Given the description of an element on the screen output the (x, y) to click on. 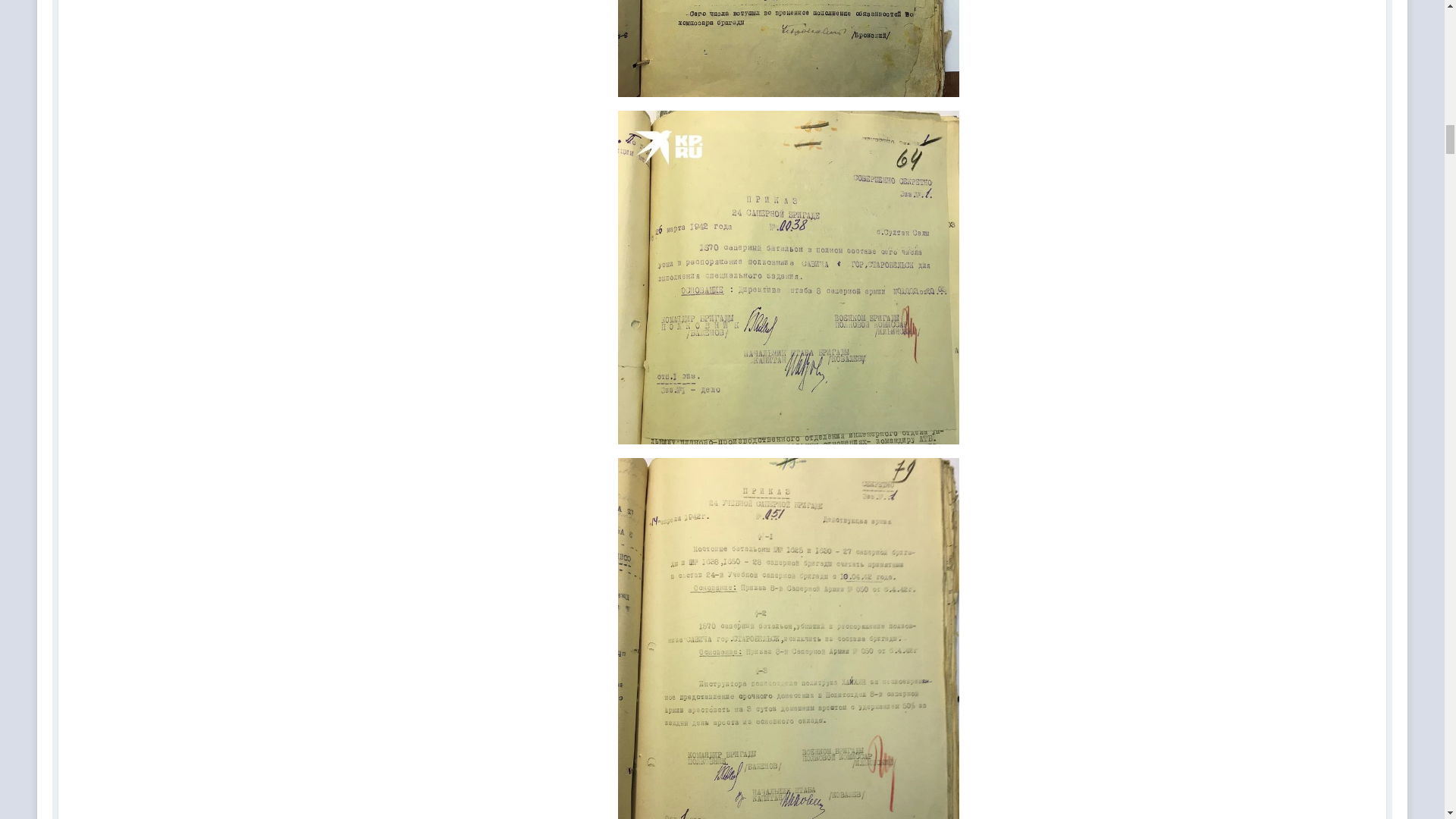
Semyon Zolotaryov documents (788, 277)
Semyon Zolotaryov documents (788, 48)
Semyon Zolotaryov documents (788, 638)
